Given the description of an element on the screen output the (x, y) to click on. 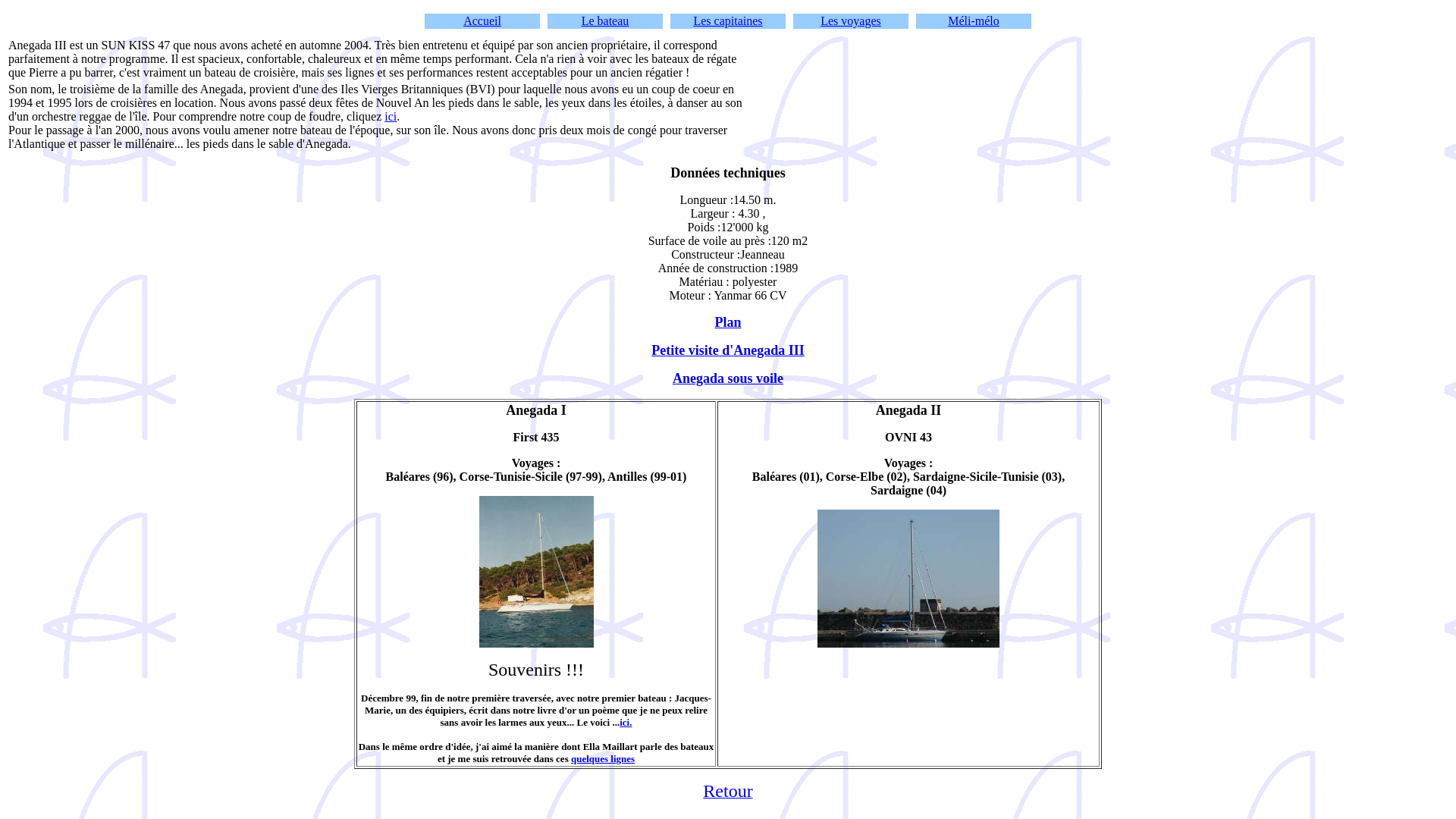
Plan Element type: text (727, 322)
Les capitaines Element type: text (727, 20)
Retour Element type: text (727, 792)
Le bateau Element type: text (605, 20)
Accueil Element type: text (482, 20)
Anegada sous voile Element type: text (727, 377)
quelques lignes Element type: text (602, 758)
Les voyages Element type: text (850, 20)
ici. Element type: text (625, 722)
ici Element type: text (390, 115)
Petite visite d'Anegada III Element type: text (727, 350)
